Given the description of an element on the screen output the (x, y) to click on. 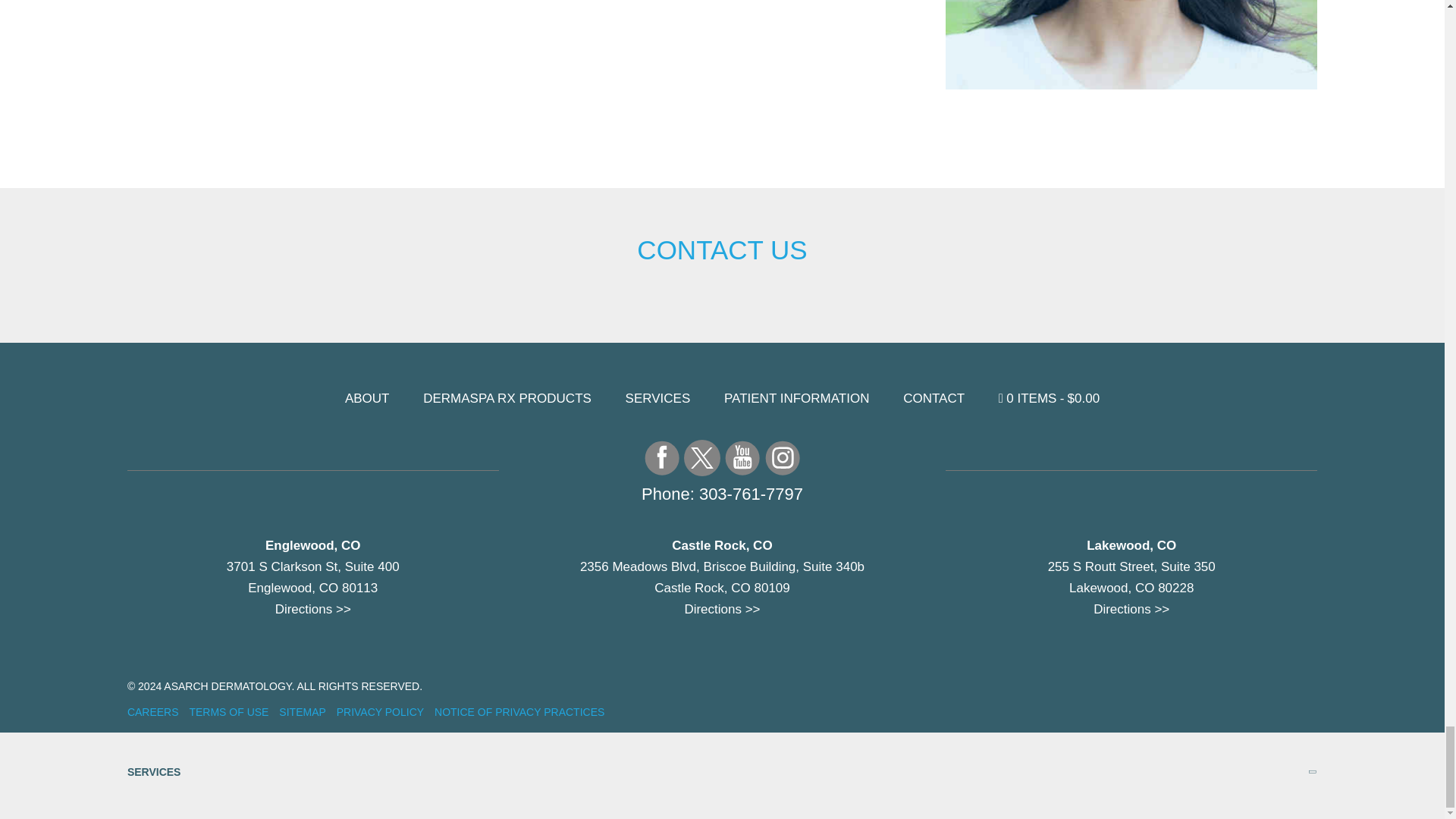
Start shopping (1048, 398)
